Given the description of an element on the screen output the (x, y) to click on. 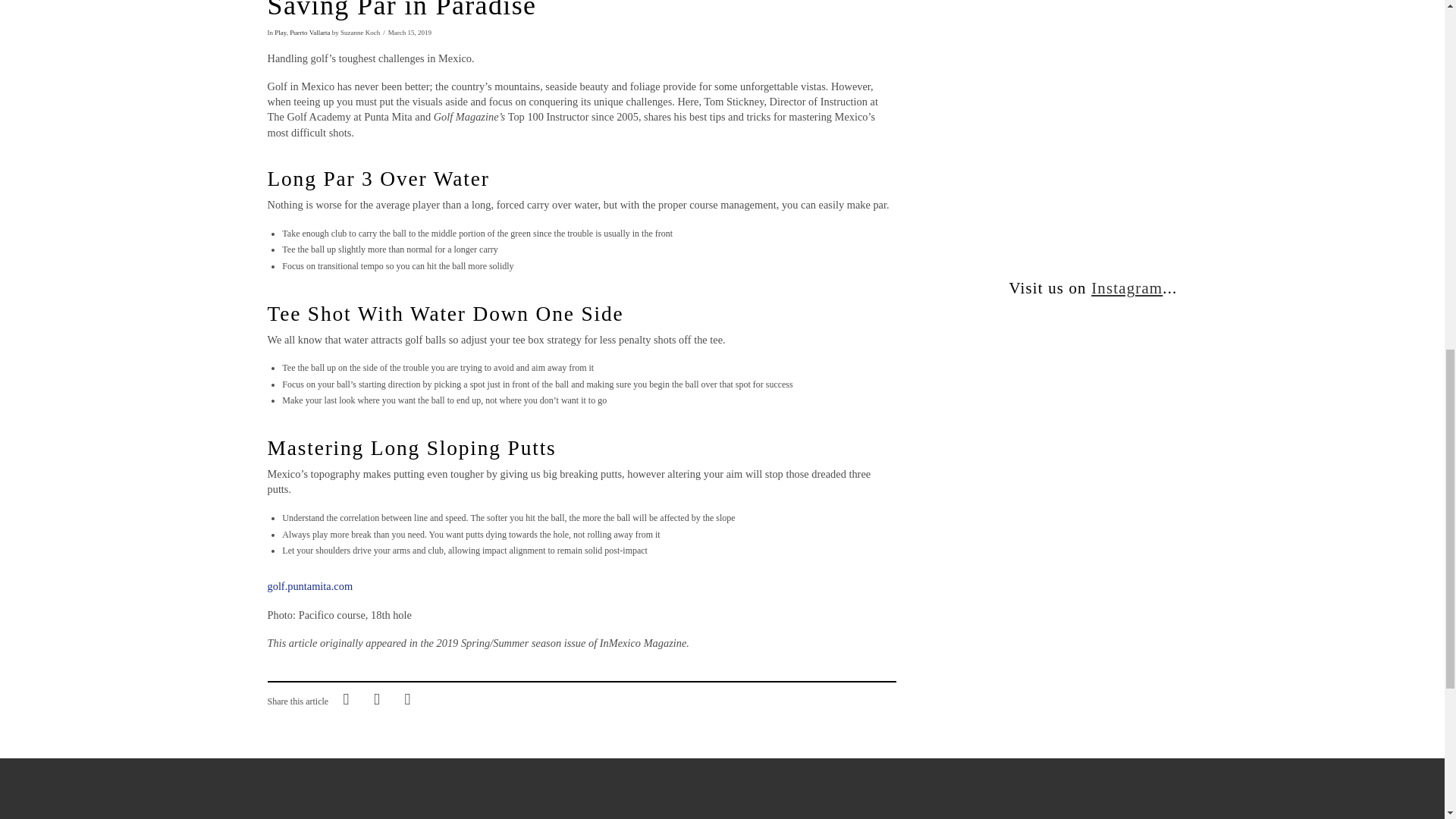
Share on Email (407, 697)
Share on Facebook (345, 697)
Share on Twitter (376, 697)
